Given the description of an element on the screen output the (x, y) to click on. 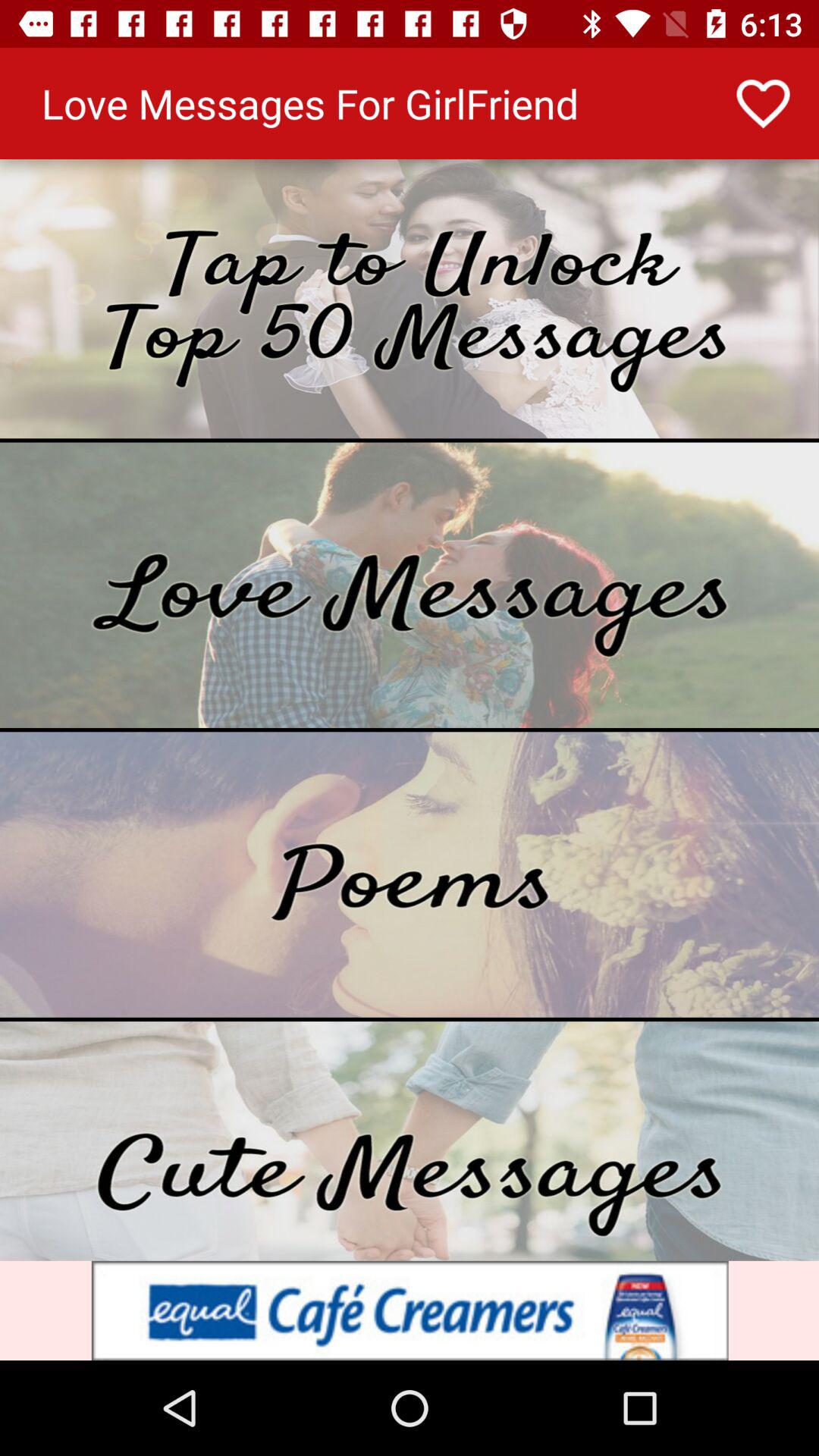
message to the option (409, 585)
